Given the description of an element on the screen output the (x, y) to click on. 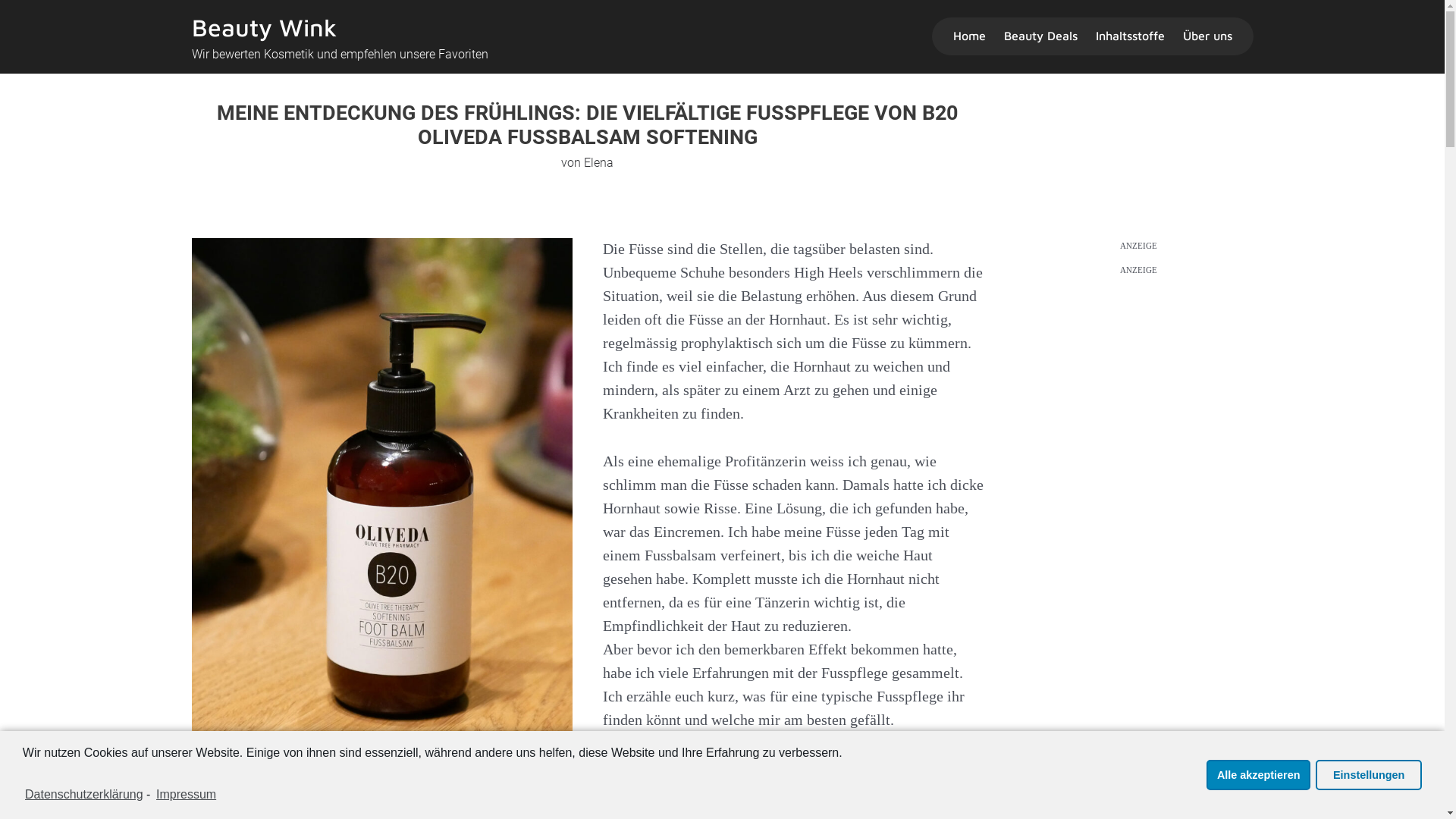
Einstellungen Element type: text (1368, 774)
Elena Element type: text (598, 162)
Inhaltsstoffe Element type: text (1129, 35)
Beauty Deals Element type: text (1040, 35)
Home Element type: text (968, 35)
Impressum Element type: text (184, 794)
Alle akzeptieren Element type: text (1258, 774)
Beauty Wink Element type: text (263, 26)
